Given the description of an element on the screen output the (x, y) to click on. 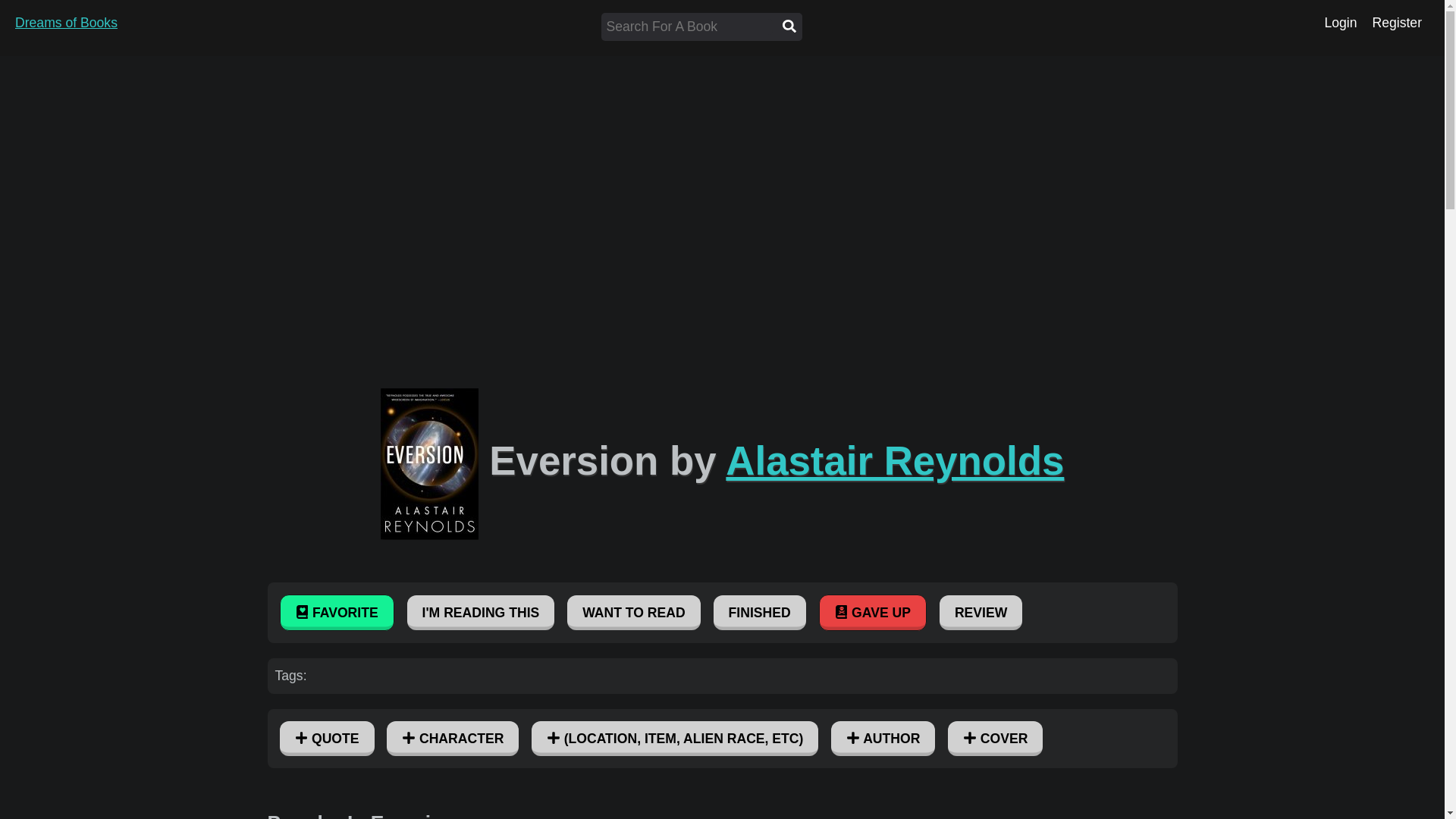
COVER (994, 738)
CHARACTER (452, 738)
FAVORITE (336, 612)
GAVE UP (872, 612)
Login (1339, 22)
WANT TO READ (633, 612)
Alastair Reynolds (894, 460)
Dreams of Books (65, 22)
Register (1396, 22)
REVIEW (980, 612)
